Given the description of an element on the screen output the (x, y) to click on. 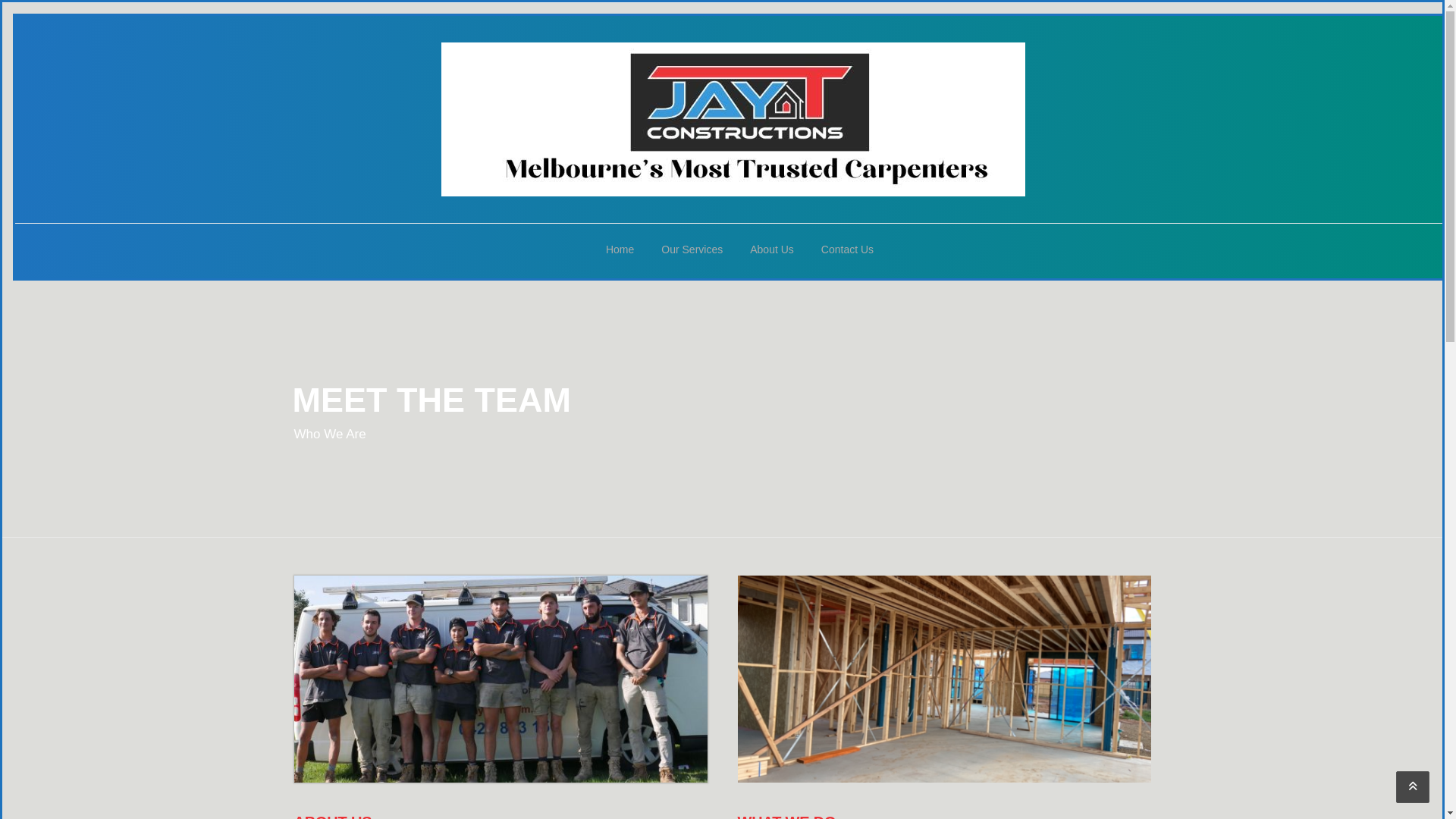
Skip to content Element type: text (1, 1)
Our Services Element type: text (691, 250)
Contact Us Element type: text (840, 250)
Home Element type: text (619, 250)
About Us Element type: text (771, 250)
Jay T Constructions Element type: hover (733, 118)
